Given the description of an element on the screen output the (x, y) to click on. 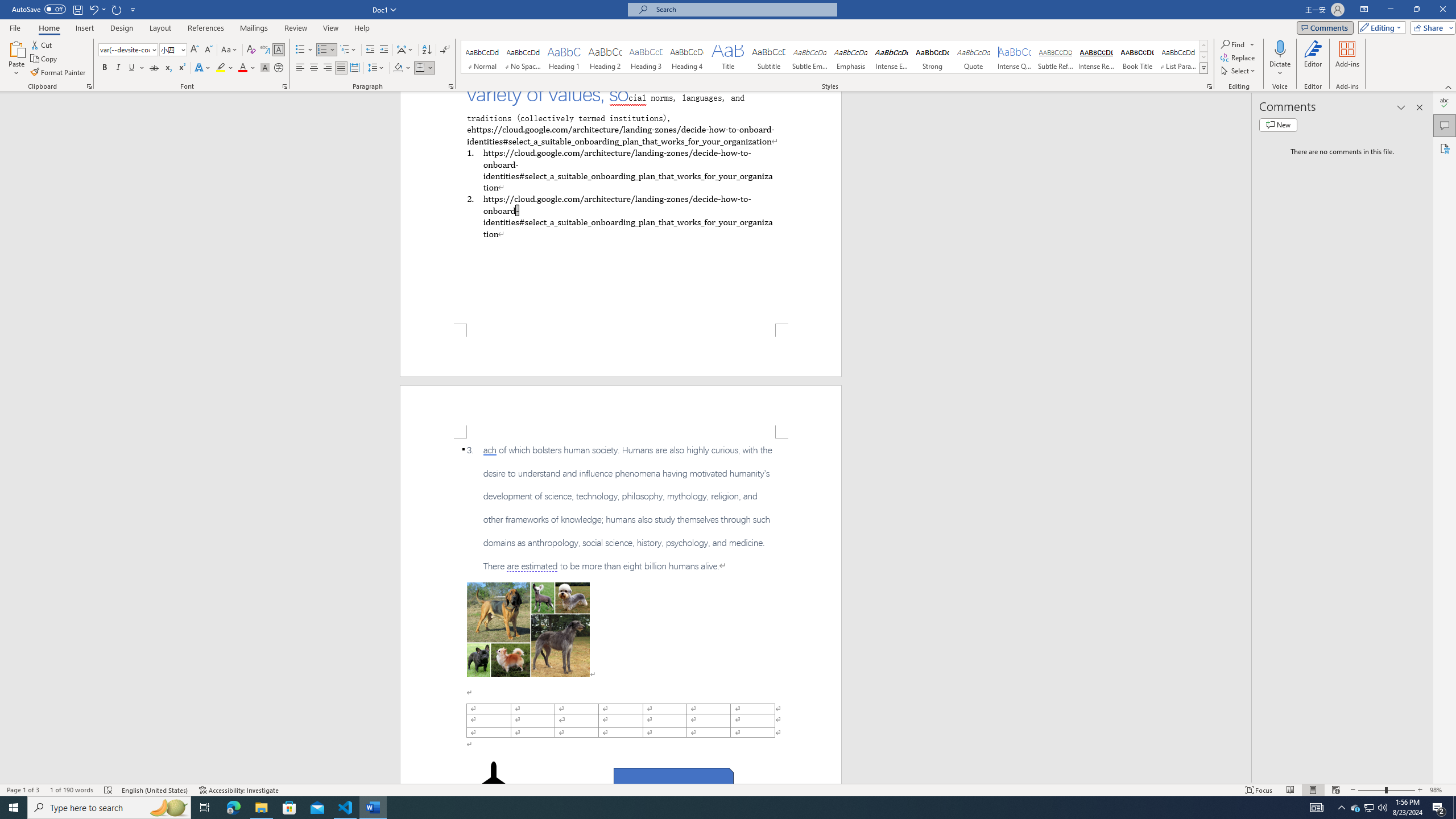
File Tab (15, 27)
Text Effects and Typography (202, 67)
Zoom (1386, 790)
Change Case (229, 49)
Focus  (1258, 790)
View (330, 28)
Review (295, 28)
Mailings (253, 28)
Font (128, 49)
Subscript (167, 67)
Intense Reference (1095, 56)
Find (1237, 44)
Restore Down (1416, 9)
Heading 2 (605, 56)
